Given the description of an element on the screen output the (x, y) to click on. 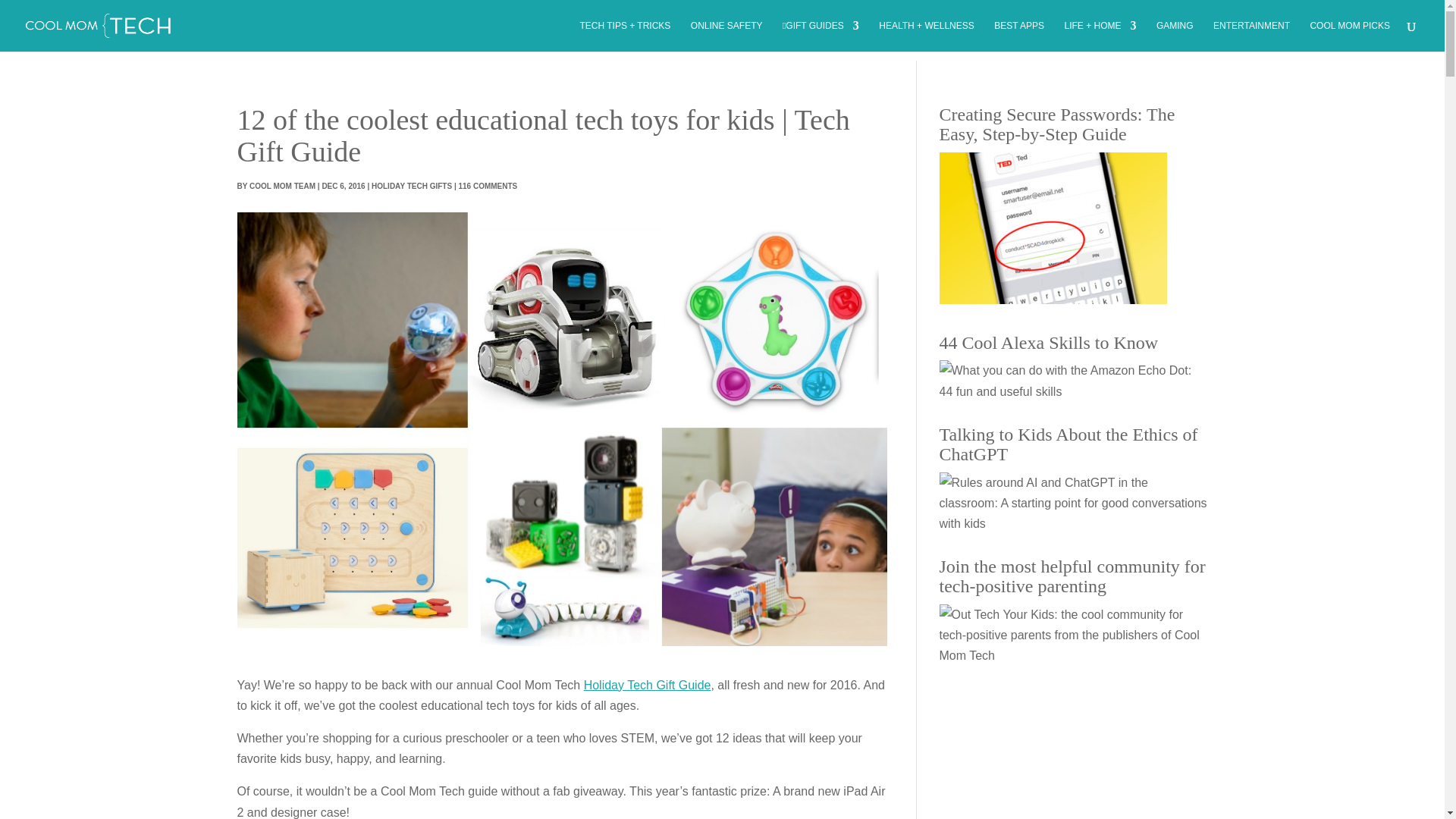
Posts by Cool Mom Team (281, 185)
BEST APPS (1018, 35)
ENTERTAINMENT (1251, 35)
ONLINE SAFETY (726, 35)
COOL MOM PICKS (1349, 35)
GAMING (1174, 35)
